Given the description of an element on the screen output the (x, y) to click on. 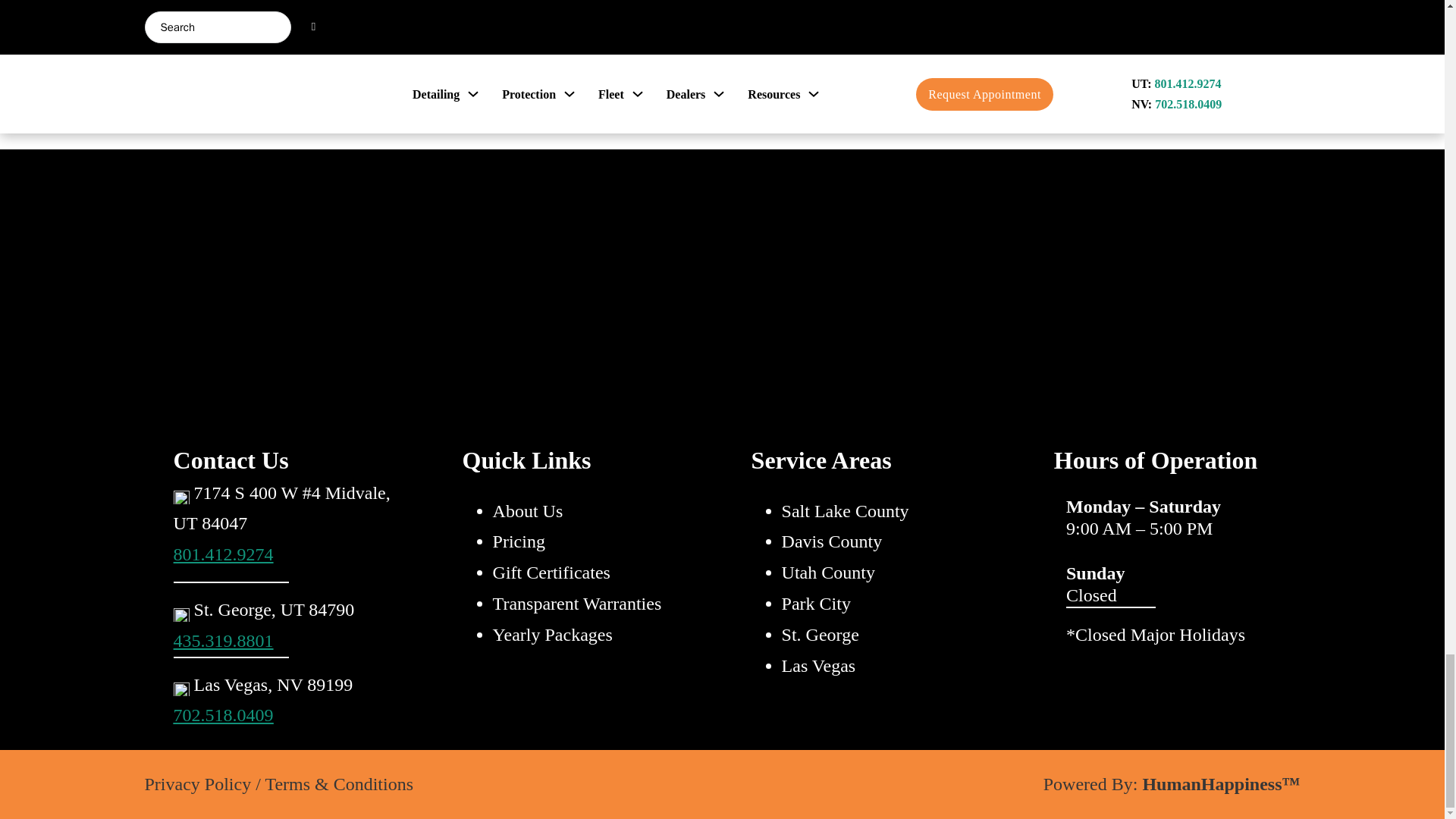
Contact (721, 18)
